Given the description of an element on the screen output the (x, y) to click on. 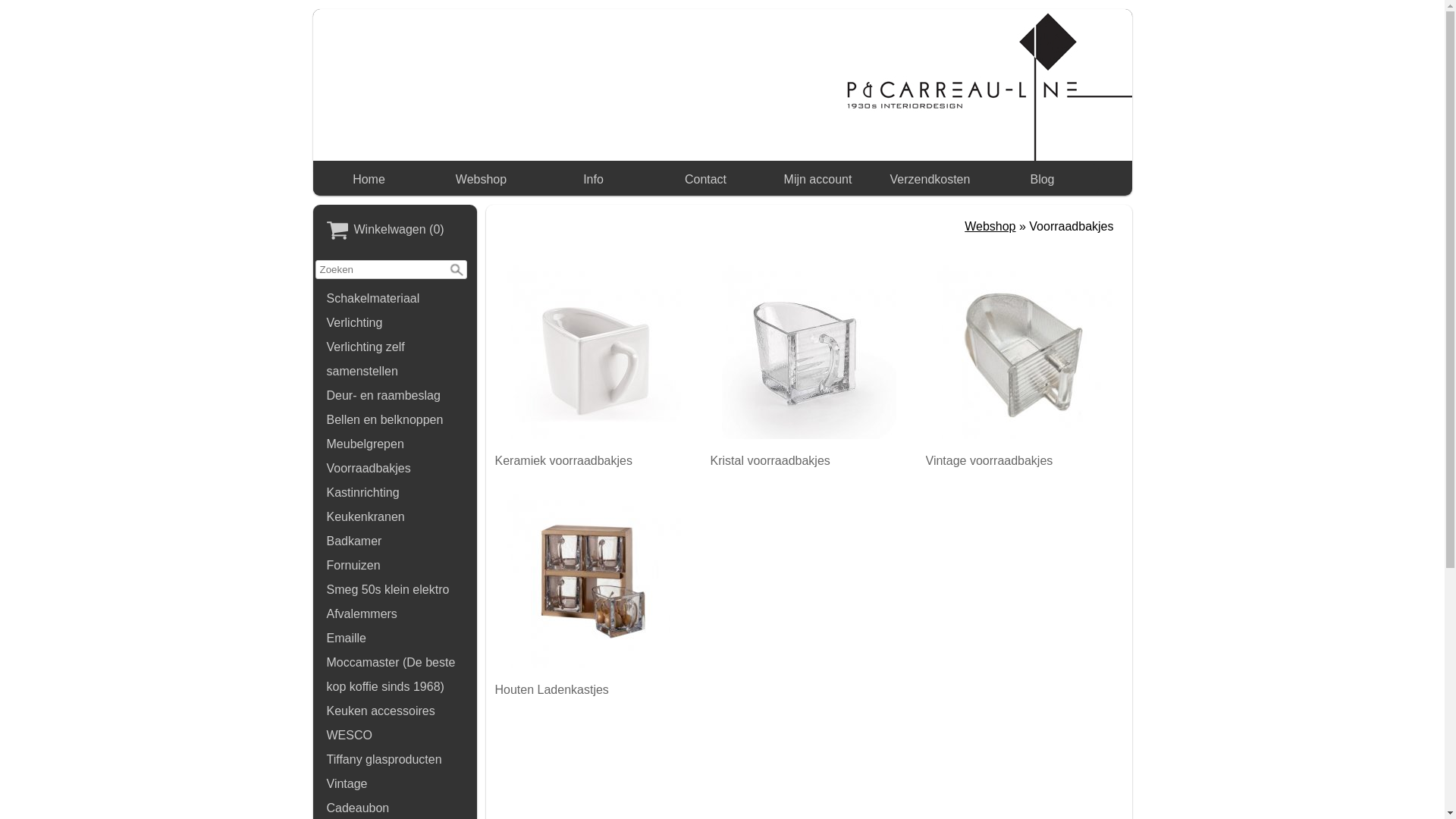
Keuken accessoires Element type: text (394, 711)
Home Element type: text (368, 179)
Vintage Element type: text (394, 783)
Tiffany glasproducten Element type: text (394, 759)
Info Element type: text (593, 179)
Moccamaster (De beste kop koffie sinds 1968) Element type: text (394, 674)
Vintage voorraadbakjes Element type: text (1023, 362)
Verlichting Element type: text (394, 322)
Houten Ladenkastjes Element type: text (592, 591)
Verzendkosten Element type: text (930, 179)
Keukenkranen Element type: text (394, 517)
Emaille Element type: text (394, 638)
Verlichting zelf samenstellen Element type: text (394, 359)
Afvalemmers Element type: text (394, 614)
Kastinrichting Element type: text (394, 492)
WinkelwagenWinkelwagen (0) Element type: text (394, 230)
Blog Element type: text (1042, 179)
Meubelgrepen Element type: text (394, 444)
Keramiek voorraadbakjes Element type: text (592, 362)
Contact Element type: text (705, 179)
Smeg 50s klein elektro Element type: text (394, 589)
Kristal voorraadbakjes Element type: text (807, 362)
Schakelmateriaal Element type: text (394, 298)
Webshop Element type: text (989, 225)
Badkamer Element type: text (394, 541)
Webshop Element type: text (481, 179)
Voorraadbakjes Element type: text (394, 468)
Bellen en belknoppen Element type: text (394, 419)
Mijn account Element type: text (817, 179)
Deur- en raambeslag Element type: text (394, 395)
WESCO Element type: text (394, 735)
Fornuizen Element type: text (394, 565)
